Given the description of an element on the screen output the (x, y) to click on. 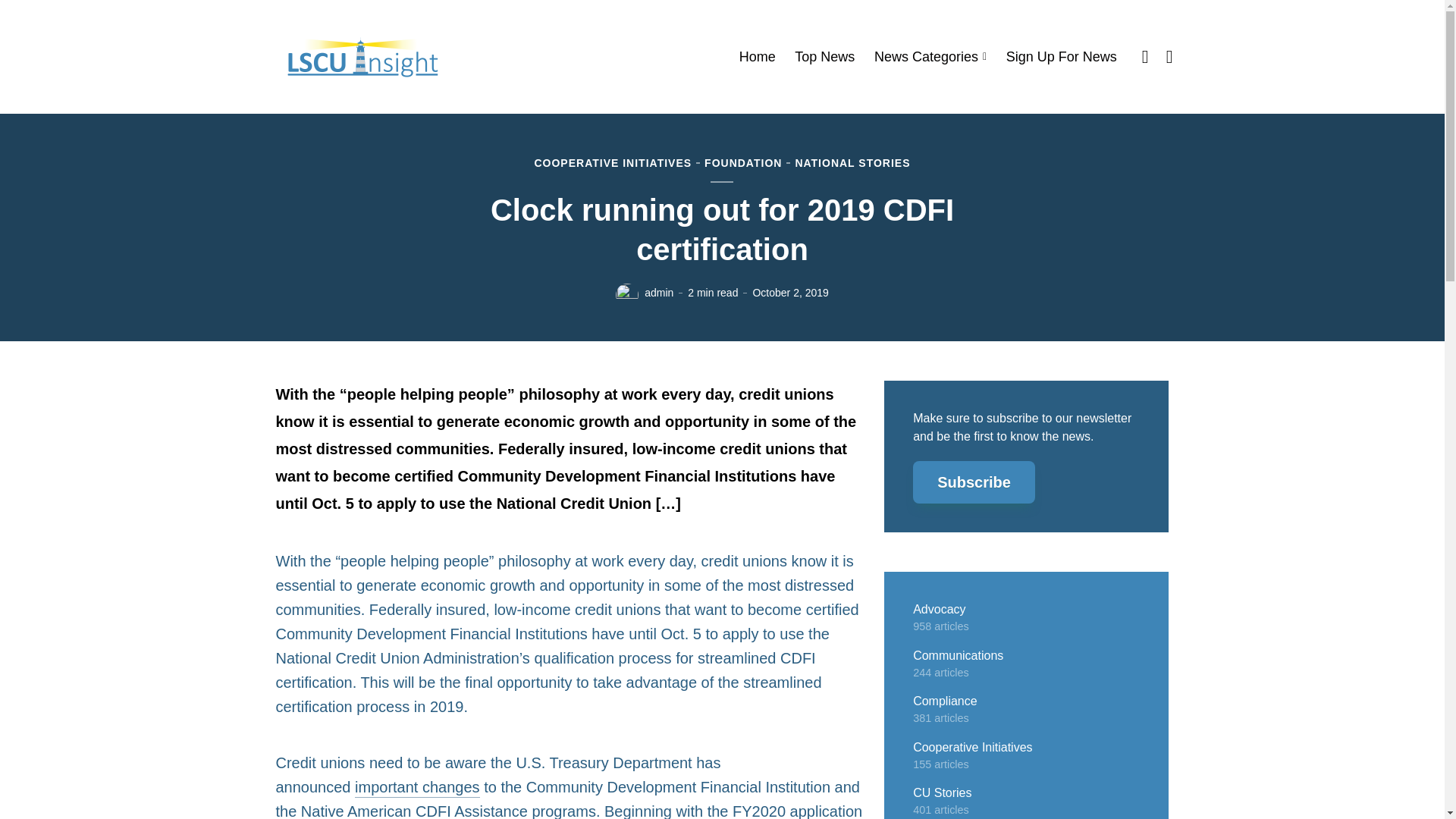
Sign Up For News (1061, 56)
Top News (824, 56)
Home (757, 56)
COOPERATIVE INITIATIVES (612, 163)
FOUNDATION (742, 163)
News Categories (931, 56)
